Given the description of an element on the screen output the (x, y) to click on. 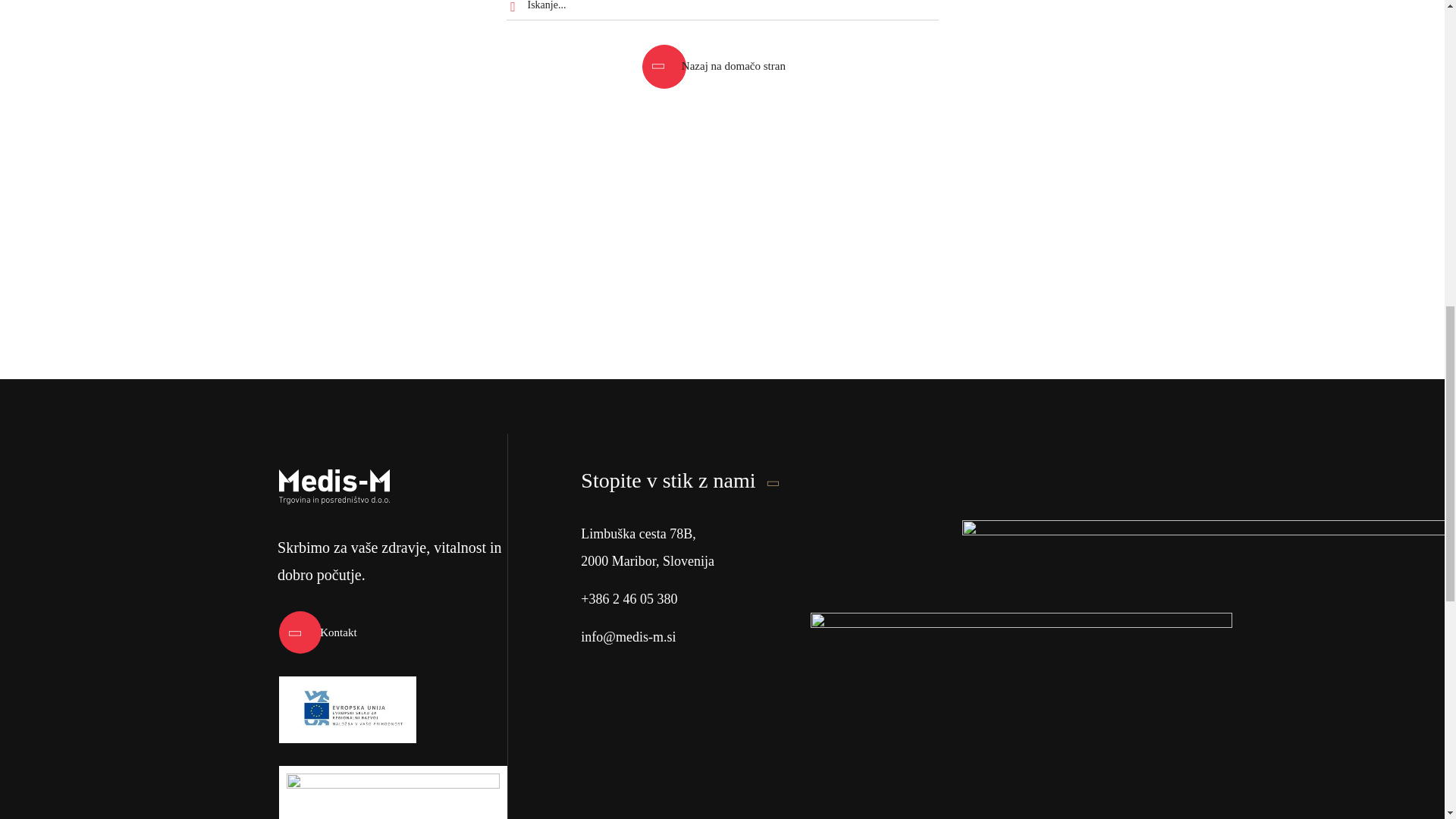
Iskanje (515, 10)
Iskanje (515, 10)
